Given the description of an element on the screen output the (x, y) to click on. 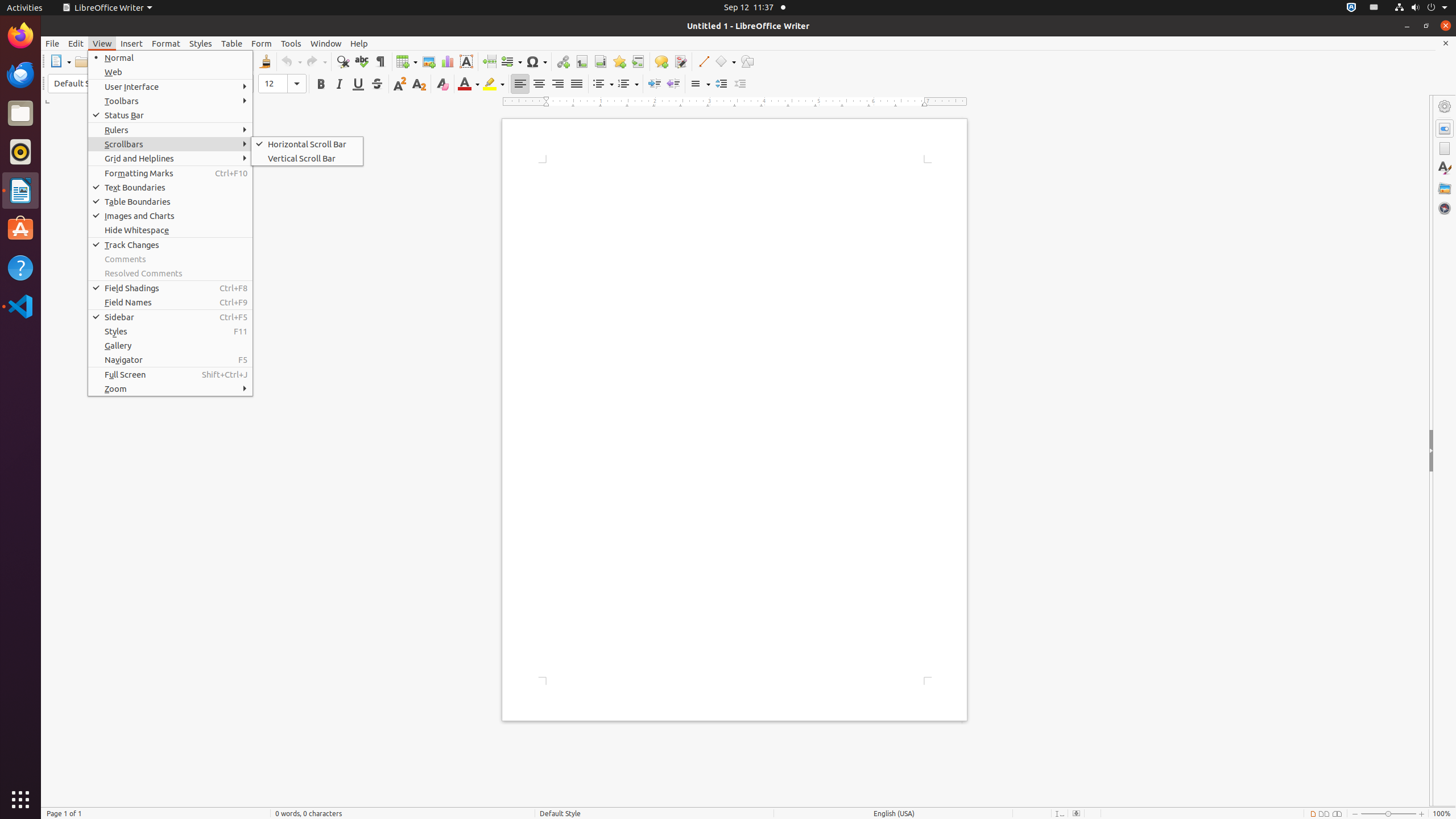
Track Changes Functions Element type: toggle-button (679, 61)
Show Applications Element type: toggle-button (20, 799)
Footnote Element type: push-button (581, 61)
Files Element type: push-button (20, 113)
Justified Element type: toggle-button (576, 83)
